Given the description of an element on the screen output the (x, y) to click on. 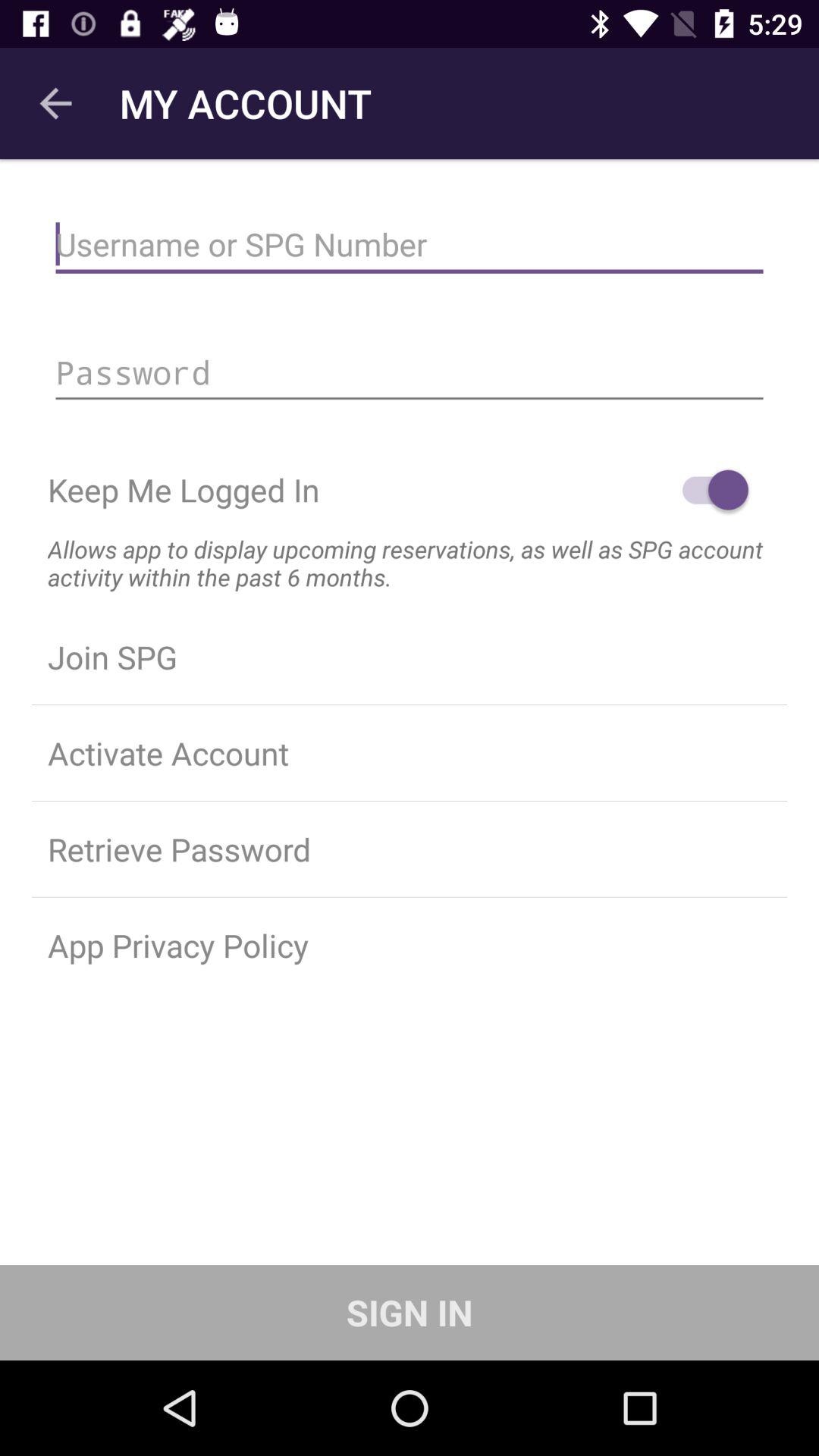
jump to sign in item (409, 1312)
